Given the description of an element on the screen output the (x, y) to click on. 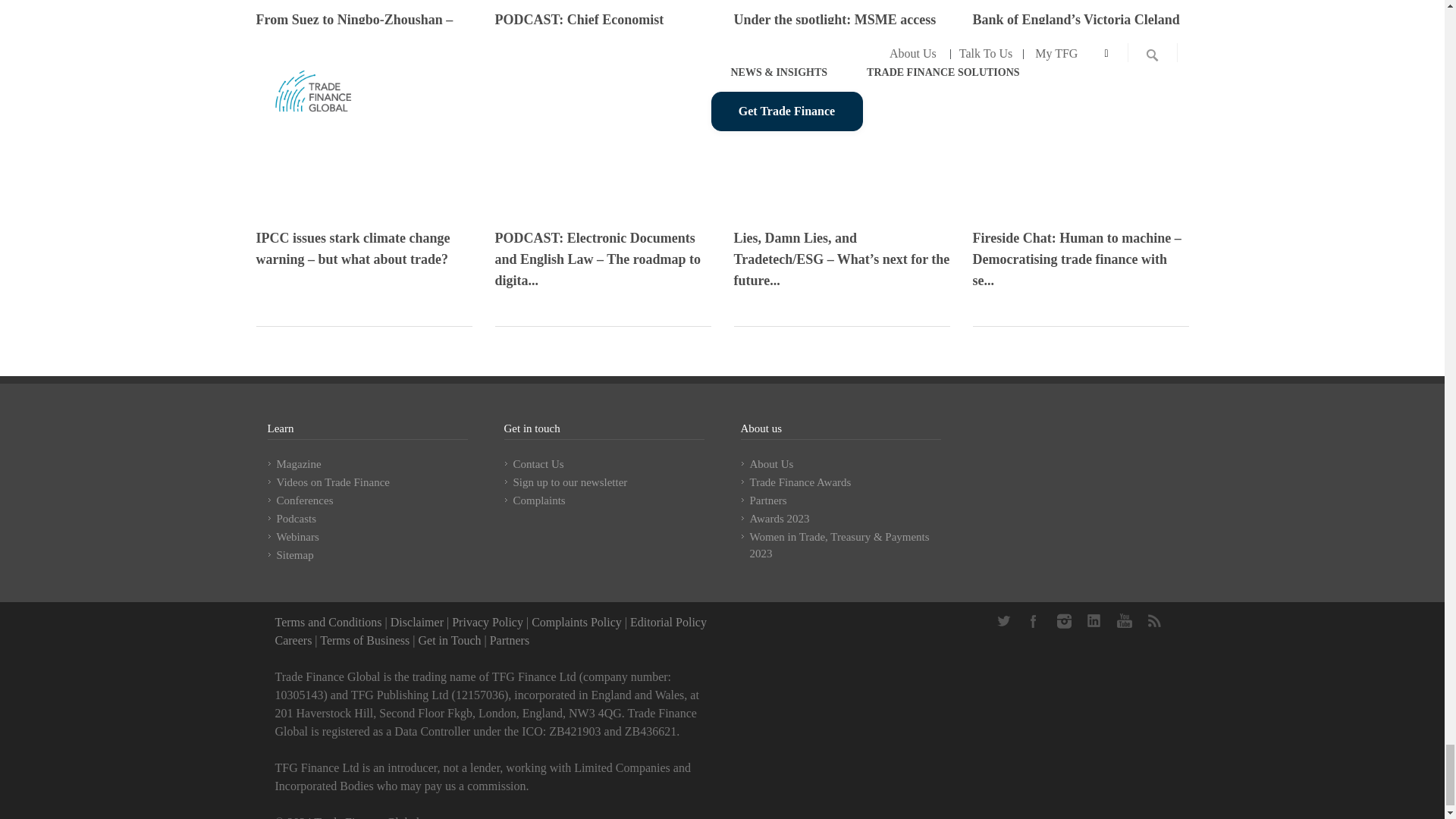
Editorial Policy (668, 621)
Terms of Business (364, 640)
Contact Us (448, 640)
Disclaimer (417, 621)
Complaints Policy (576, 621)
Terms and Conditions (328, 621)
Trade Finance Jobs (293, 640)
Privacy Policy (486, 621)
